Given the description of an element on the screen output the (x, y) to click on. 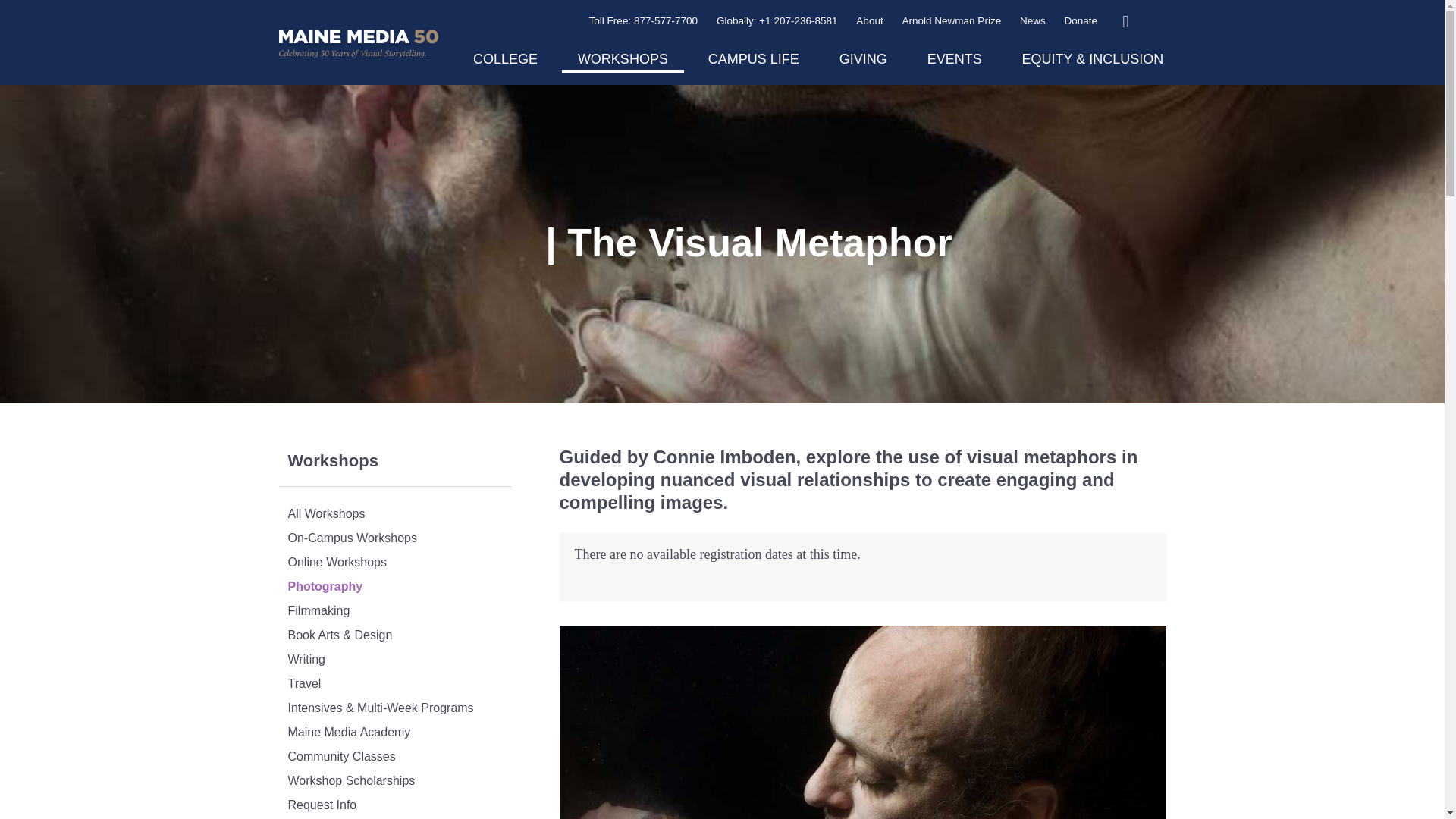
CAMPUS LIFE (754, 60)
WORKSHOPS (623, 60)
COLLEGE (505, 60)
